Given the description of an element on the screen output the (x, y) to click on. 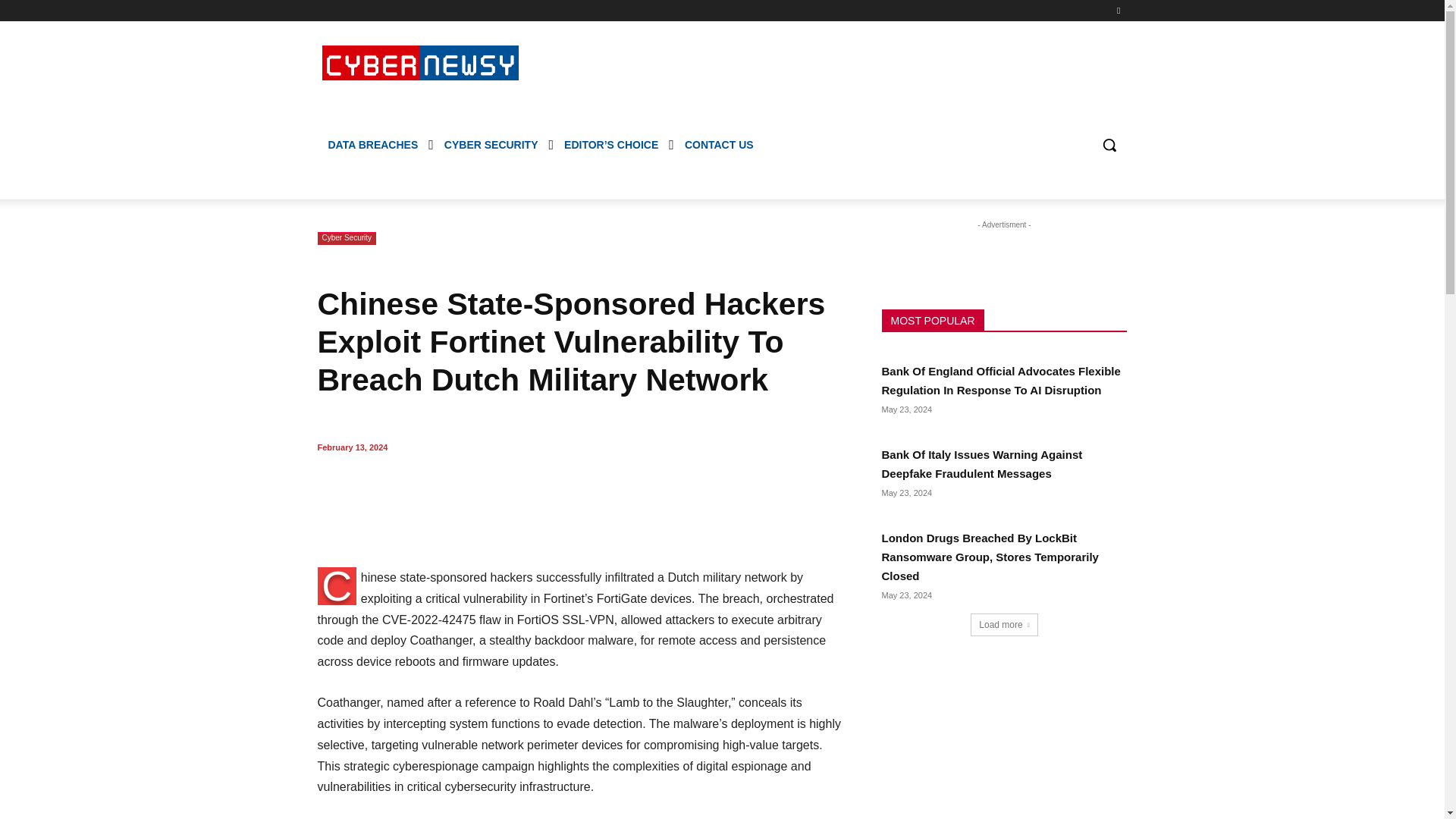
DATA BREACHES (372, 144)
CONTACT US (719, 144)
CYBER SECURITY (490, 144)
RSS (1117, 9)
Cyber Security (346, 237)
